Given the description of an element on the screen output the (x, y) to click on. 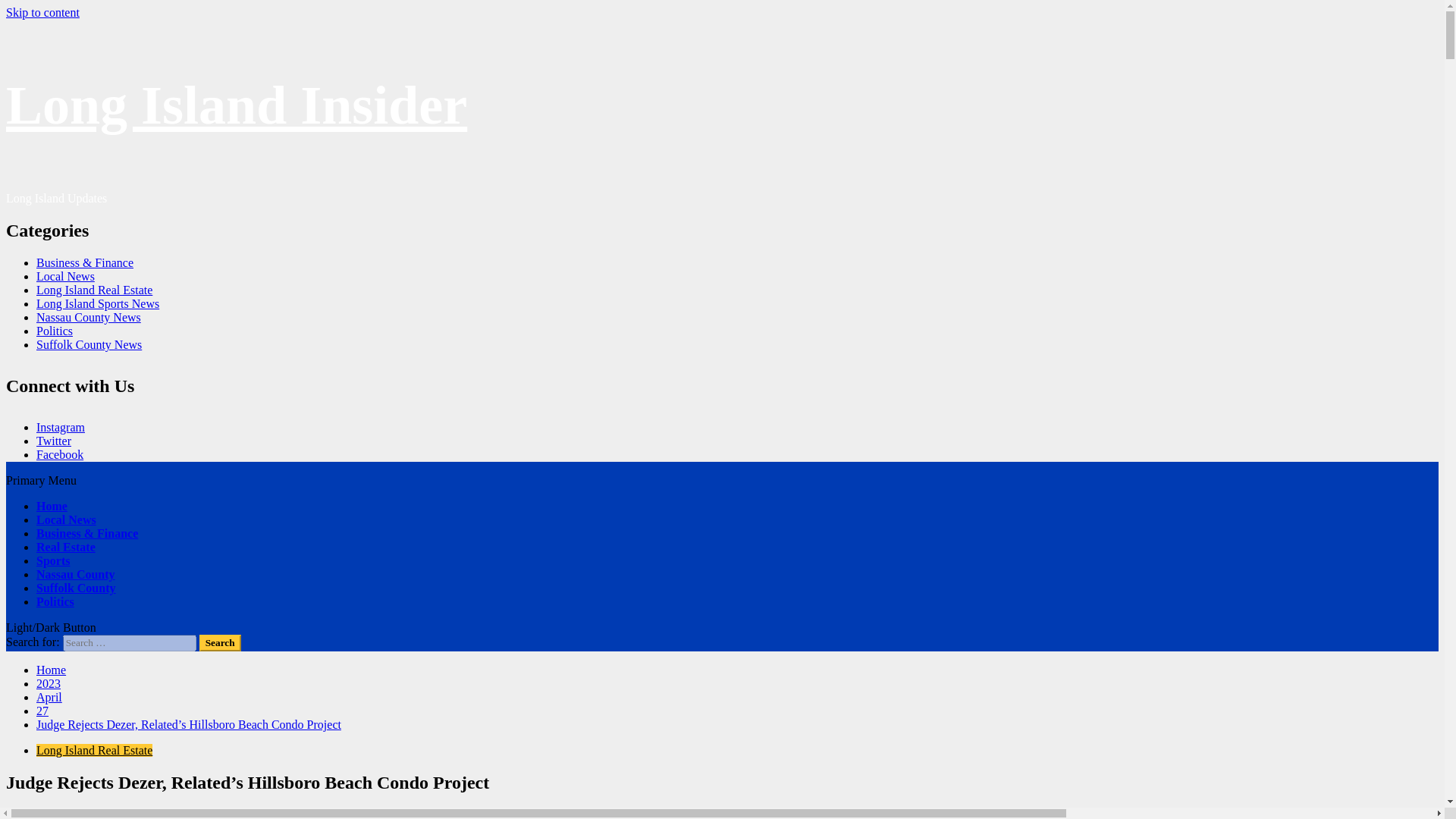
Real Estate (66, 546)
Long Island Real Estate (94, 749)
Local News (65, 276)
Admin (23, 813)
Search (220, 642)
Primary Menu (41, 480)
Sports (52, 560)
Nassau County News (88, 317)
Long Island Sports News (97, 303)
Suffolk County News (88, 344)
2023 (48, 683)
Suffolk County (75, 587)
Skip to content (42, 11)
Home (50, 669)
April (49, 697)
